Given the description of an element on the screen output the (x, y) to click on. 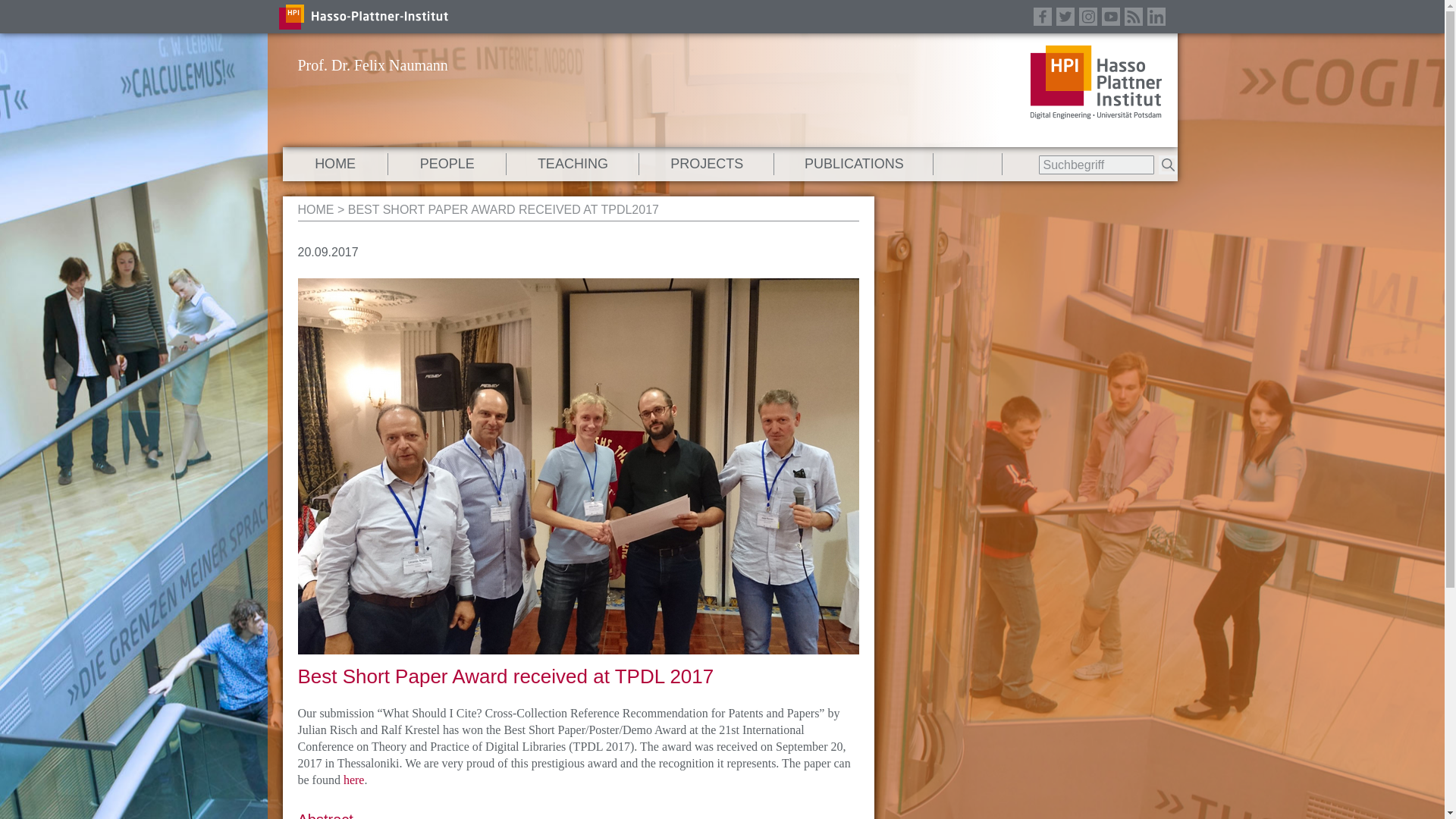
SUCHEN (1167, 164)
PUBLICATIONS (853, 163)
Naumann (315, 209)
HOME (334, 163)
PROJECTS (706, 163)
PEOPLE (447, 163)
TEACHING (572, 163)
